Given the description of an element on the screen output the (x, y) to click on. 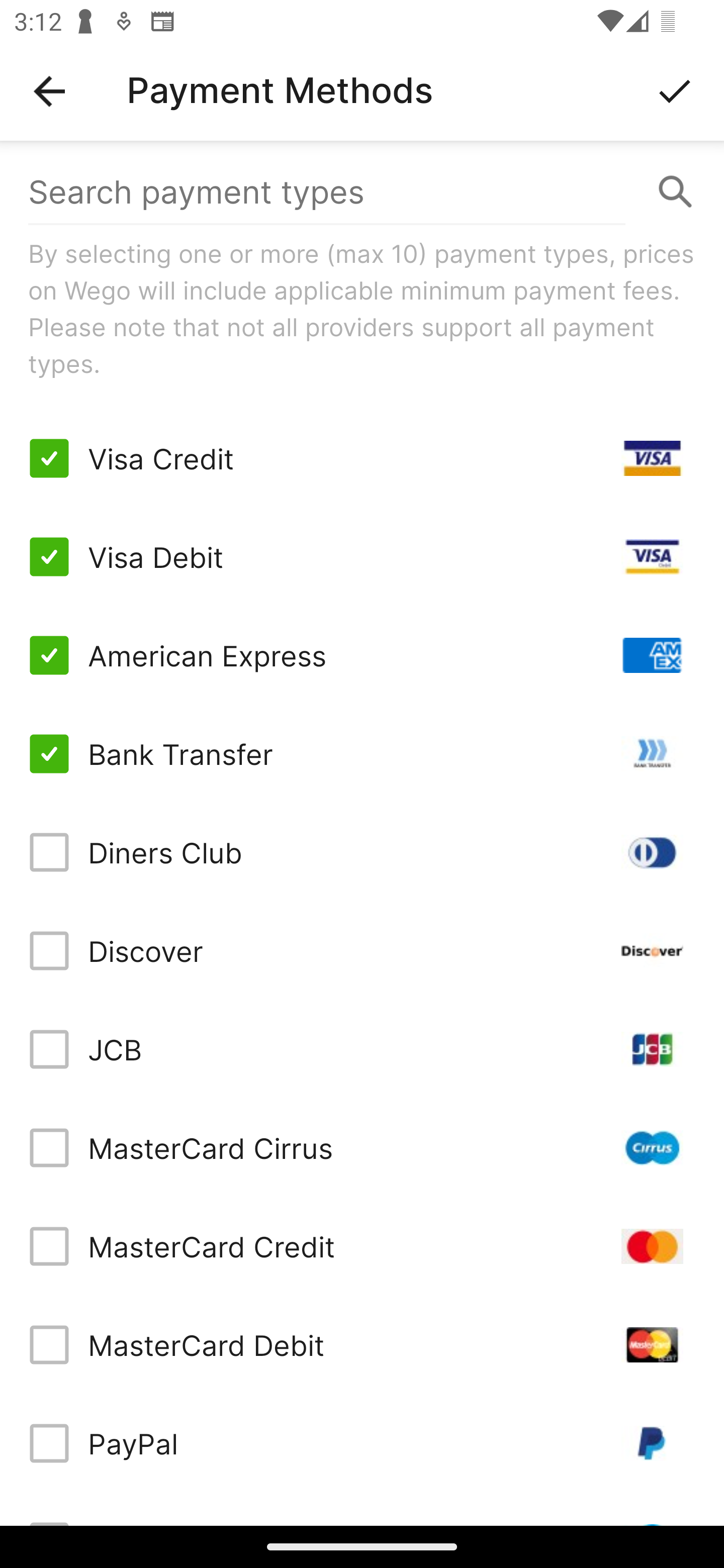
Search payment types  (361, 191)
Visa Credit (362, 458)
Visa Debit (362, 557)
American Express (362, 655)
Bank Transfer (362, 753)
Diners Club (362, 851)
Discover (362, 950)
JCB (362, 1049)
MasterCard Cirrus (362, 1147)
MasterCard Credit (362, 1245)
MasterCard Debit (362, 1344)
PayPal (362, 1442)
